Given the description of an element on the screen output the (x, y) to click on. 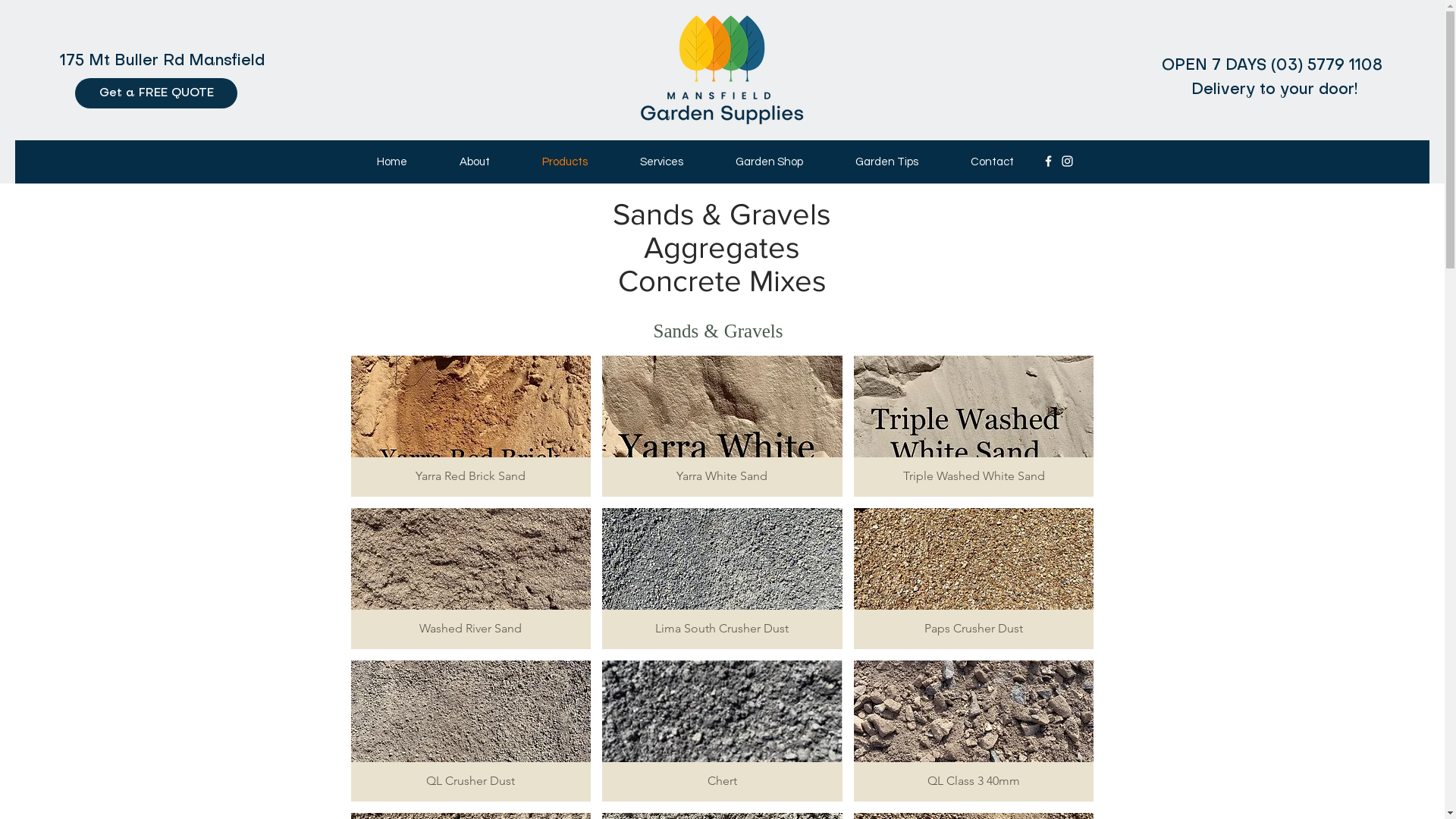
Garden Shop Element type: text (769, 162)
Garden Tips Element type: text (886, 162)
Home Element type: text (391, 162)
Products Element type: text (564, 162)
Services Element type: text (661, 162)
Contact Element type: text (991, 162)
About Element type: text (474, 162)
Get a FREE QUOTE Element type: text (156, 93)
